Given the description of an element on the screen output the (x, y) to click on. 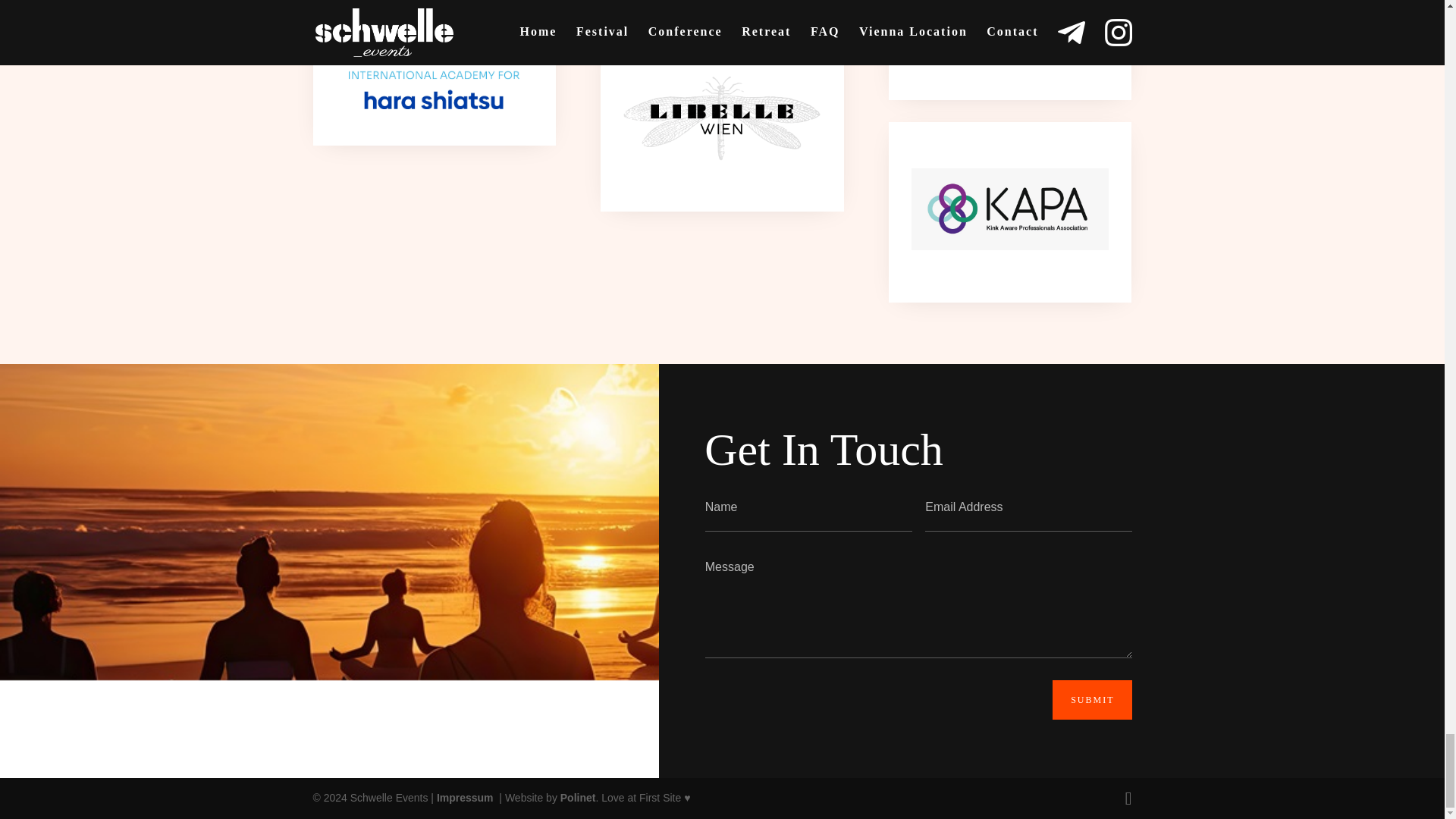
Impressum (466, 797)
SUBMIT (1092, 699)
Polinet (577, 797)
